Given the description of an element on the screen output the (x, y) to click on. 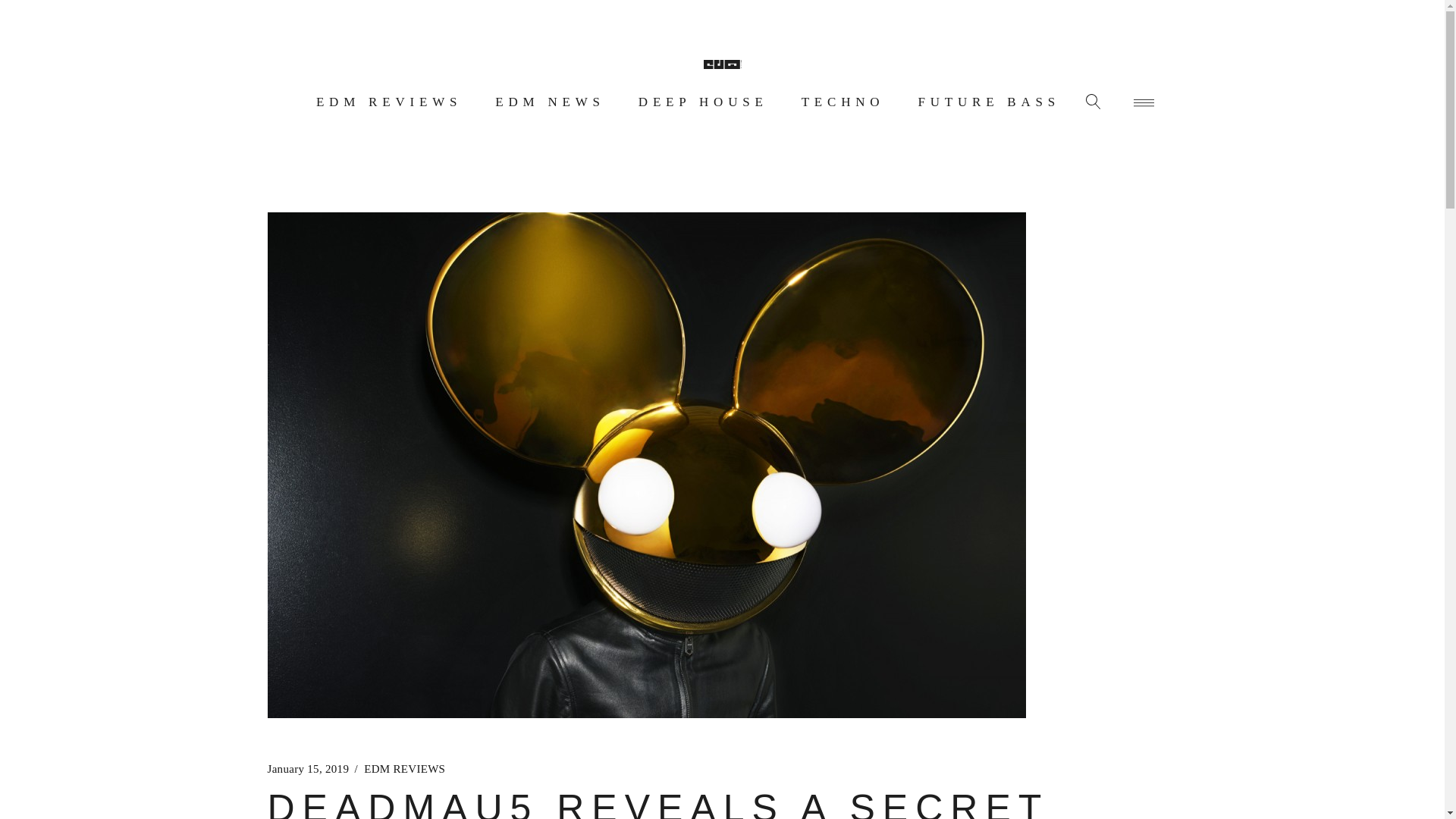
FUTURE BASS (988, 101)
January 15, 2019 (307, 768)
DEEP HOUSE (703, 101)
TECHNO (842, 101)
EDM NEWS (549, 101)
EDM REVIEWS (388, 101)
EDM REVIEWS (404, 768)
